Given the description of an element on the screen output the (x, y) to click on. 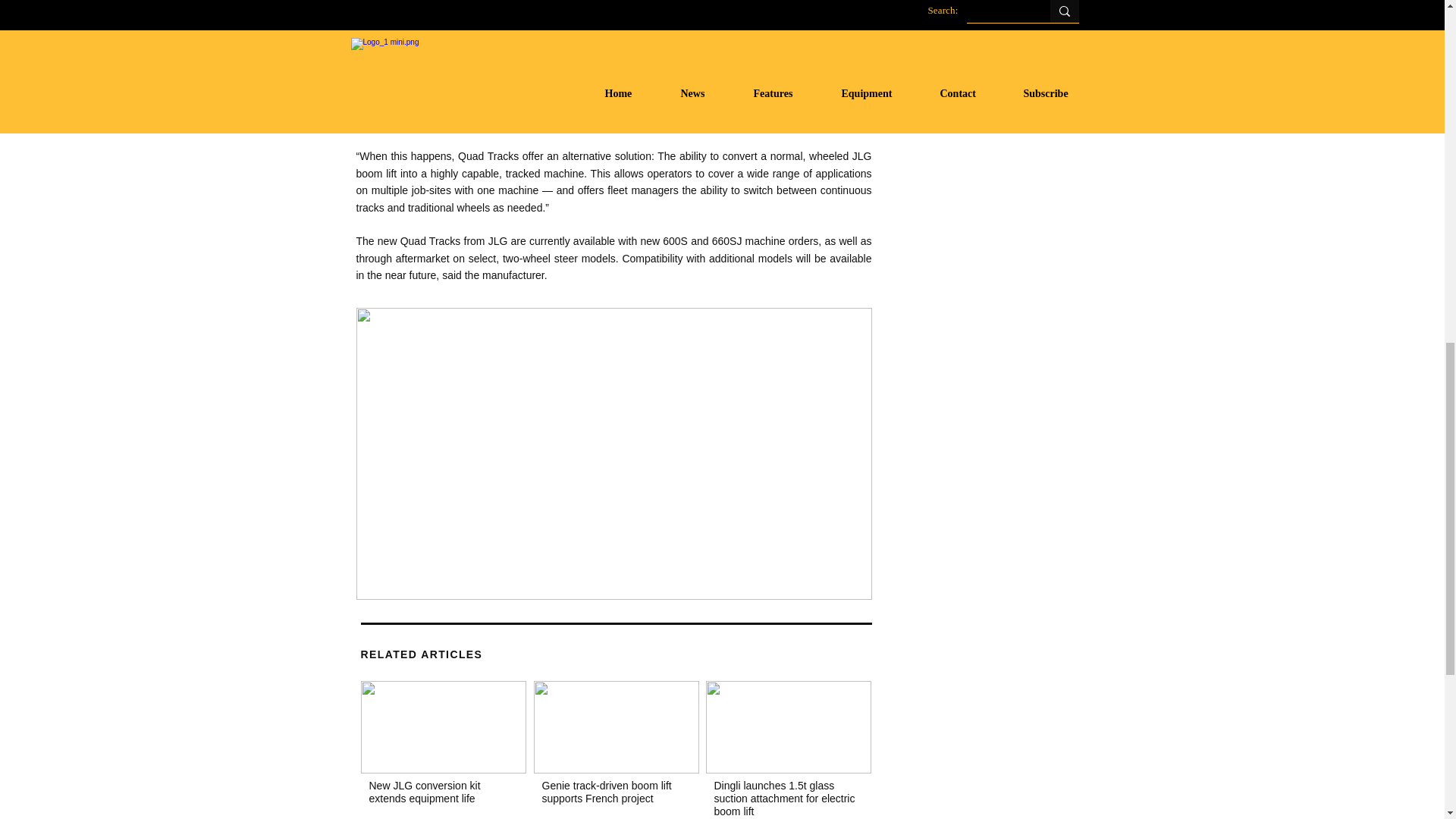
Dingli (787, 726)
JLG (443, 726)
Genie (616, 726)
